Given the description of an element on the screen output the (x, y) to click on. 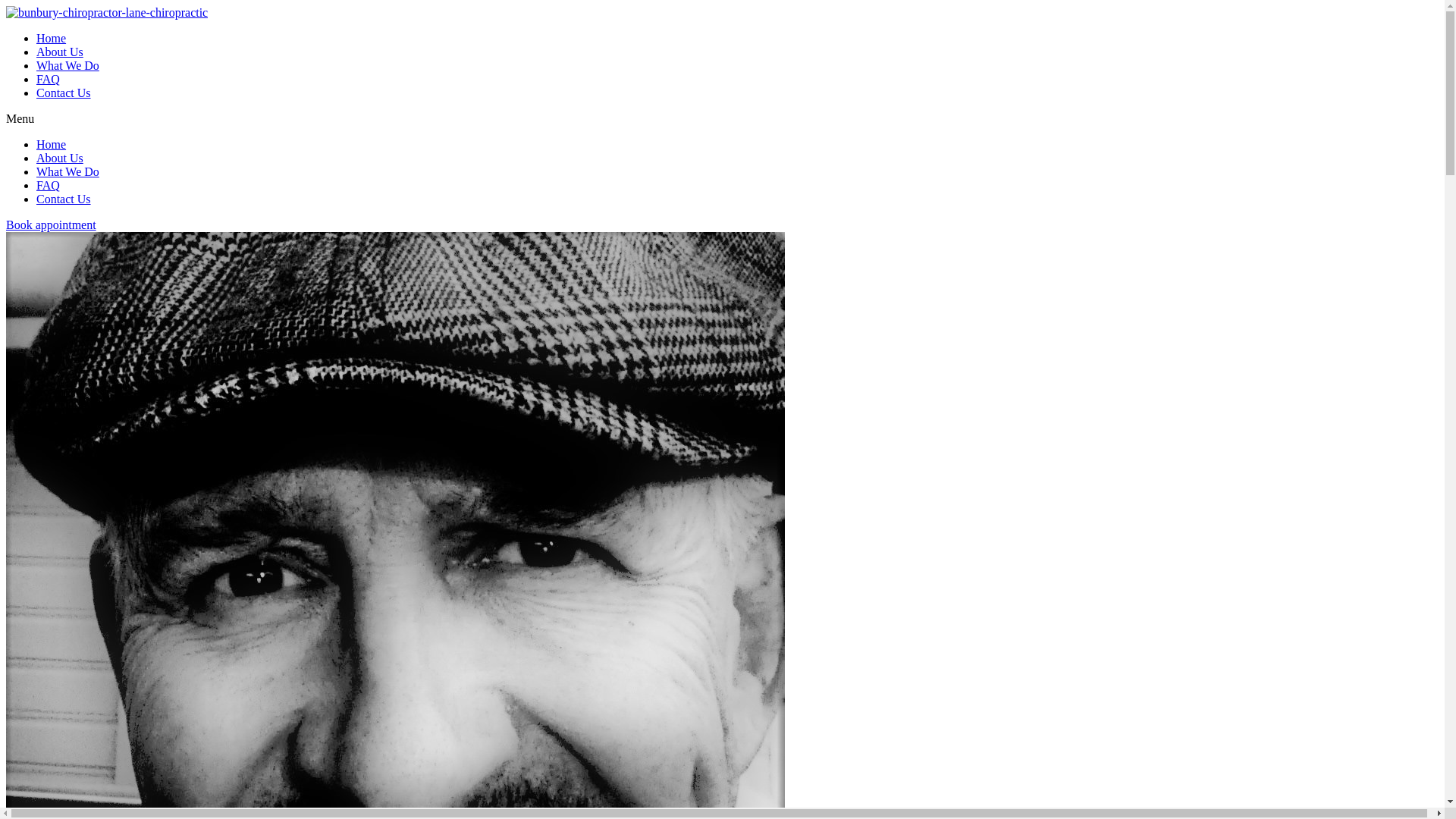
Home Element type: text (50, 37)
Home Element type: text (50, 144)
FAQ Element type: text (47, 78)
Contact Us Element type: text (63, 198)
What We Do Element type: text (67, 65)
About Us Element type: text (59, 51)
Book appointment Element type: text (51, 224)
What We Do Element type: text (67, 171)
About Us Element type: text (59, 157)
FAQ Element type: text (47, 184)
Contact Us Element type: text (63, 92)
